Given the description of an element on the screen output the (x, y) to click on. 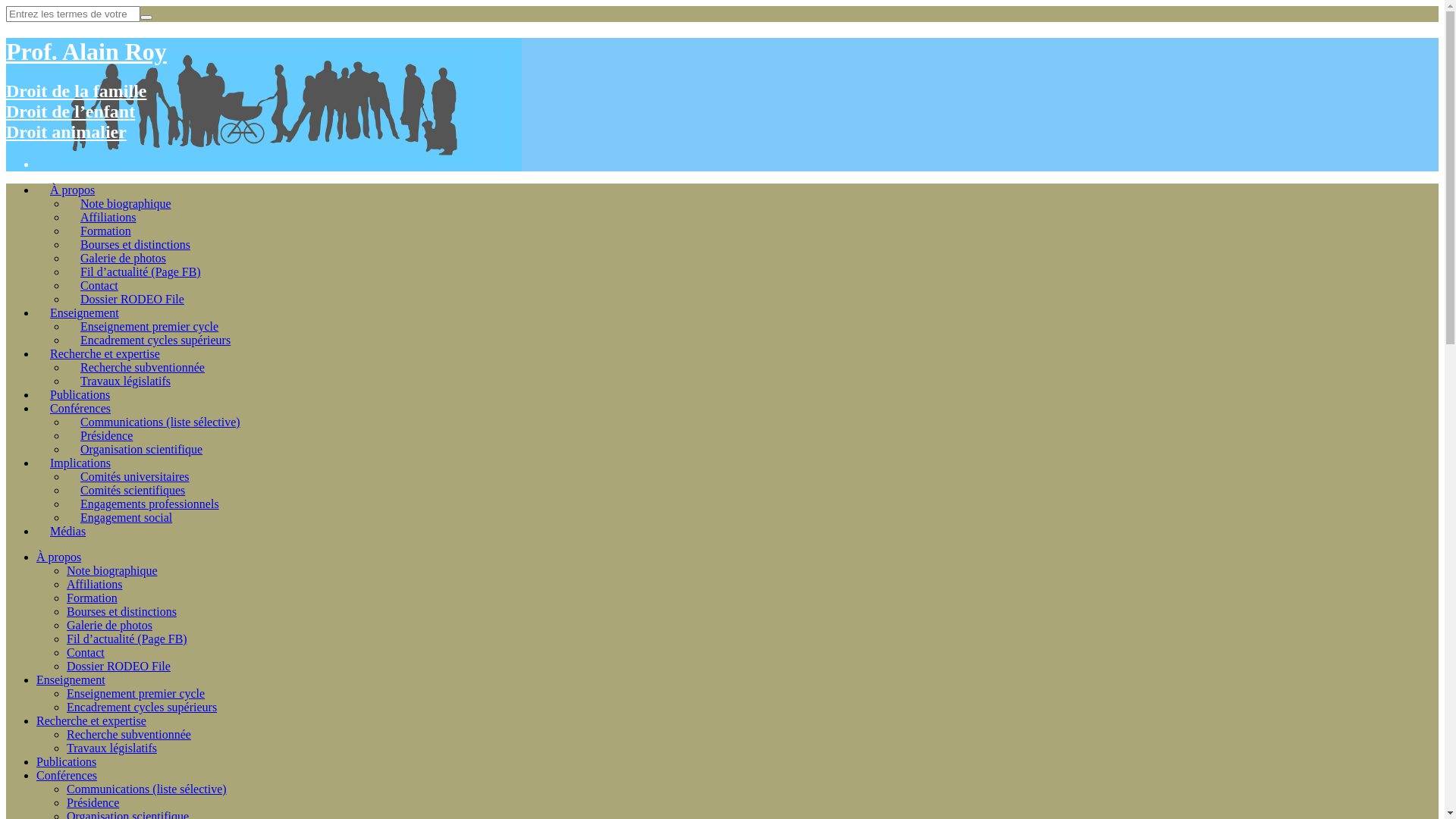
Note biographique Element type: text (111, 570)
Contact Element type: text (98, 285)
Publications Element type: text (79, 394)
Galerie de photos Element type: text (109, 624)
Galerie de photos Element type: text (122, 257)
Formation Element type: text (91, 597)
Recherche et expertise Element type: text (91, 720)
Affiliations Element type: text (107, 216)
Contact Element type: text (85, 652)
Note biographique Element type: text (125, 203)
Affiliations Element type: text (94, 583)
Publications Element type: text (66, 761)
Bourses et distinctions Element type: text (121, 611)
Formation Element type: text (105, 230)
Engagement social Element type: text (125, 517)
Implications Element type: text (80, 462)
Enseignement premier cycle Element type: text (135, 693)
Recherche et expertise Element type: text (104, 353)
Dossier RODEO File Element type: text (131, 298)
Organisation scientifique Element type: text (141, 448)
Enseignement Element type: text (70, 679)
Bourses et distinctions Element type: text (134, 244)
Dossier RODEO File Element type: text (118, 665)
Enseignement premier cycle Element type: text (149, 326)
Engagements professionnels Element type: text (149, 503)
Enseignement Element type: text (84, 312)
